Given the description of an element on the screen output the (x, y) to click on. 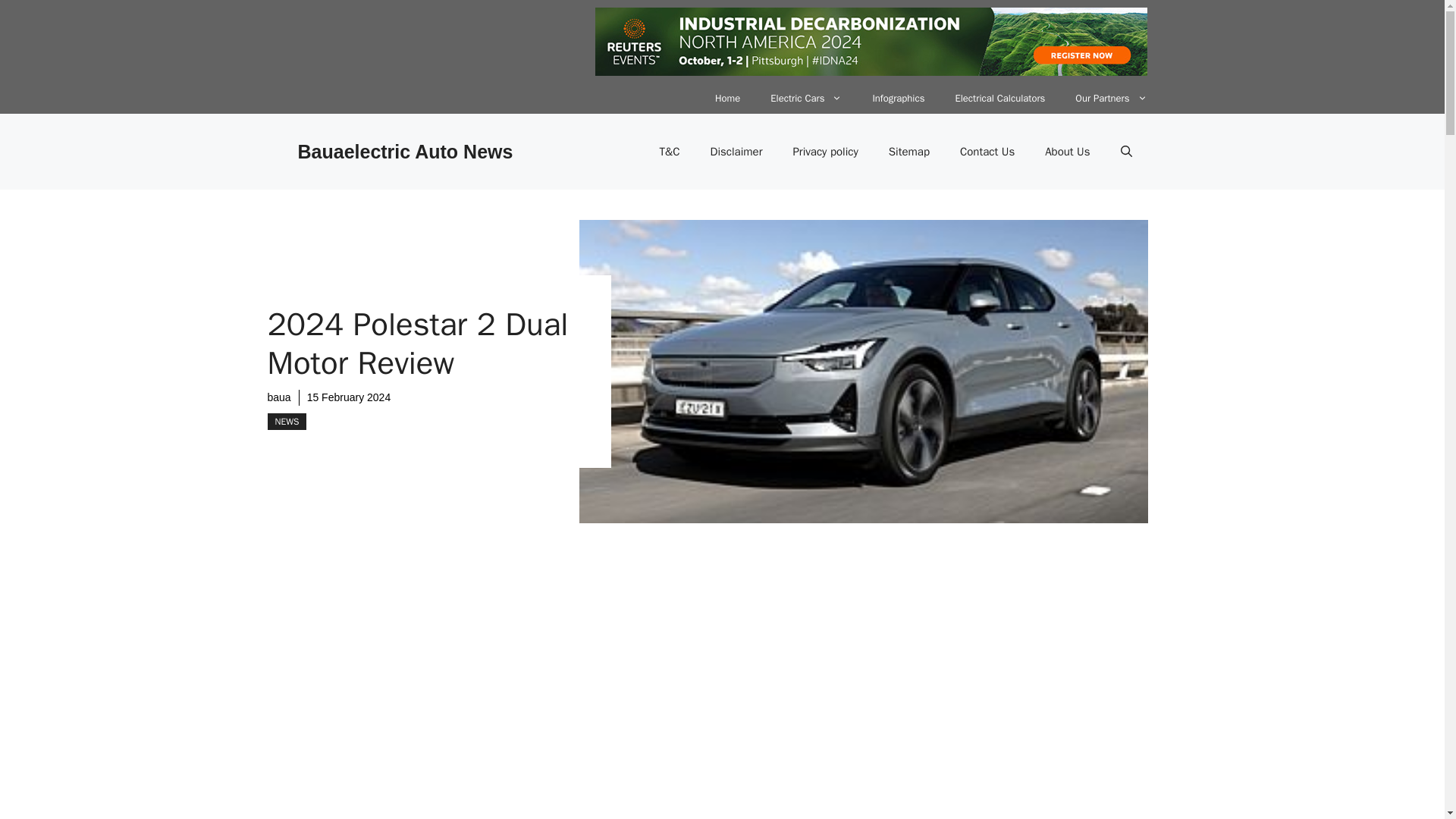
Bauaelectric Auto News (404, 151)
Electrical Calculators (999, 98)
Sitemap (908, 151)
Advertisement (1027, 716)
Infographics (898, 98)
Disclaimer (736, 151)
Our Partners (1110, 98)
Electric Cars (806, 98)
Advertisement (600, 703)
